Given the description of an element on the screen output the (x, y) to click on. 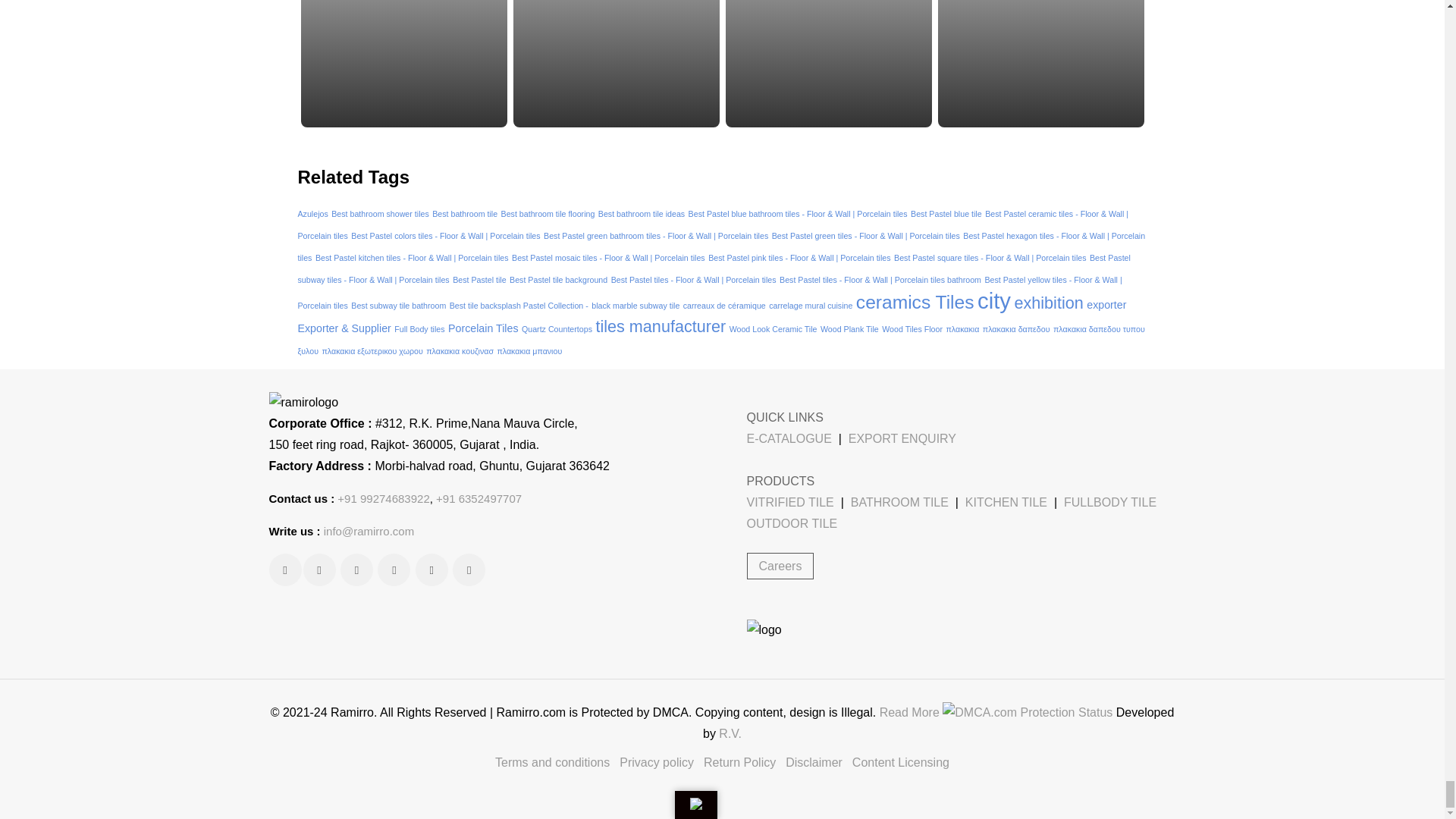
DMCA.com Protection Status (1027, 712)
